Given the description of an element on the screen output the (x, y) to click on. 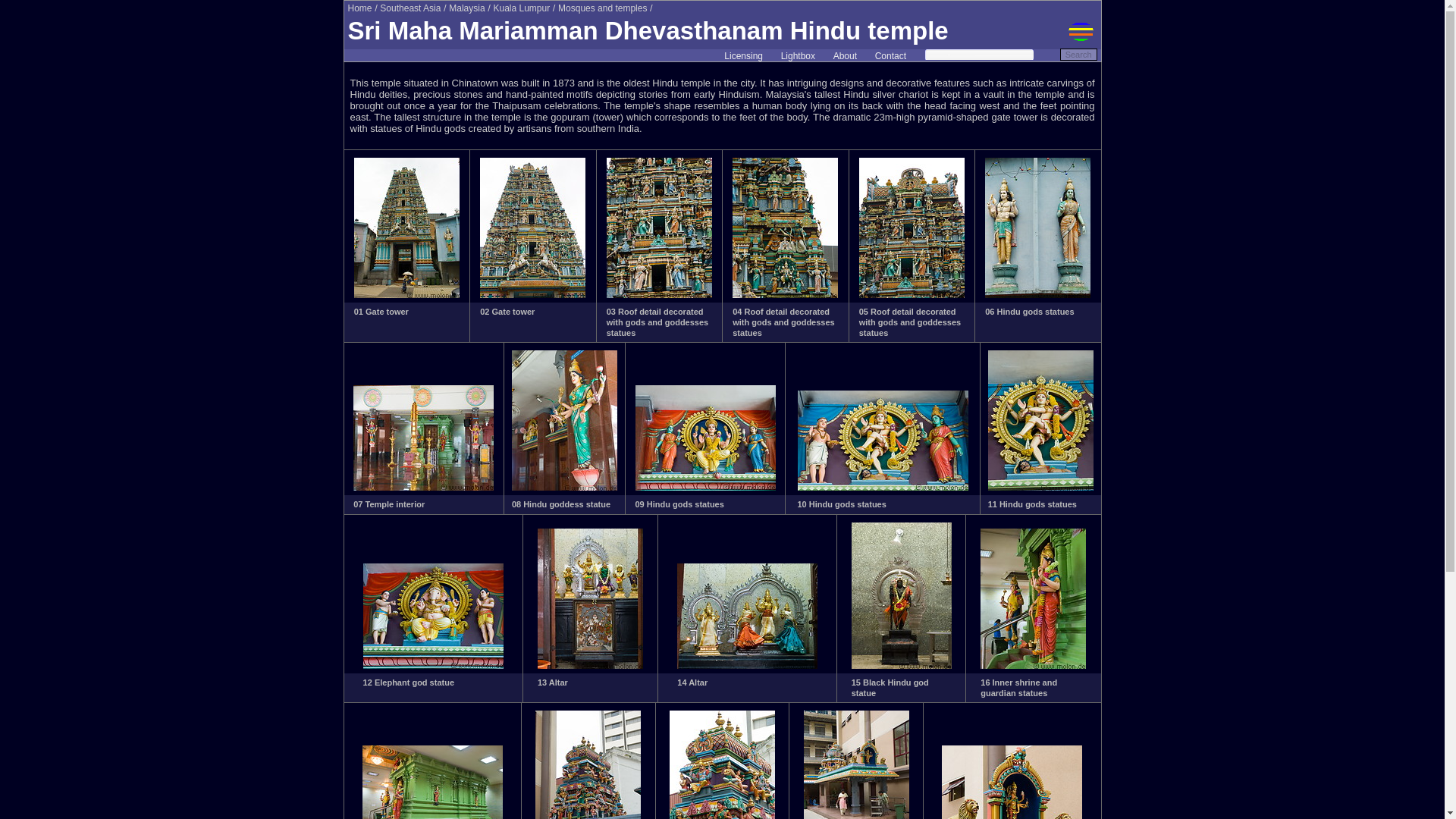
11 Hindu gods statues (1032, 503)
Contact (890, 55)
Lightbox (797, 55)
Home (359, 8)
Search (1078, 54)
Image MA25061 - click to enlarge (746, 665)
10 Hindu gods statues (841, 503)
Image MA25052 - click to enlarge (911, 294)
Image MA25056 - click to enlarge (705, 487)
01 Gate tower (381, 311)
Search (1078, 54)
About this site (844, 55)
Licensing (743, 55)
Image MA25049 - click to enlarge (532, 294)
03 Roof detail decorated with gods and goddesses statues (657, 322)
